Given the description of an element on the screen output the (x, y) to click on. 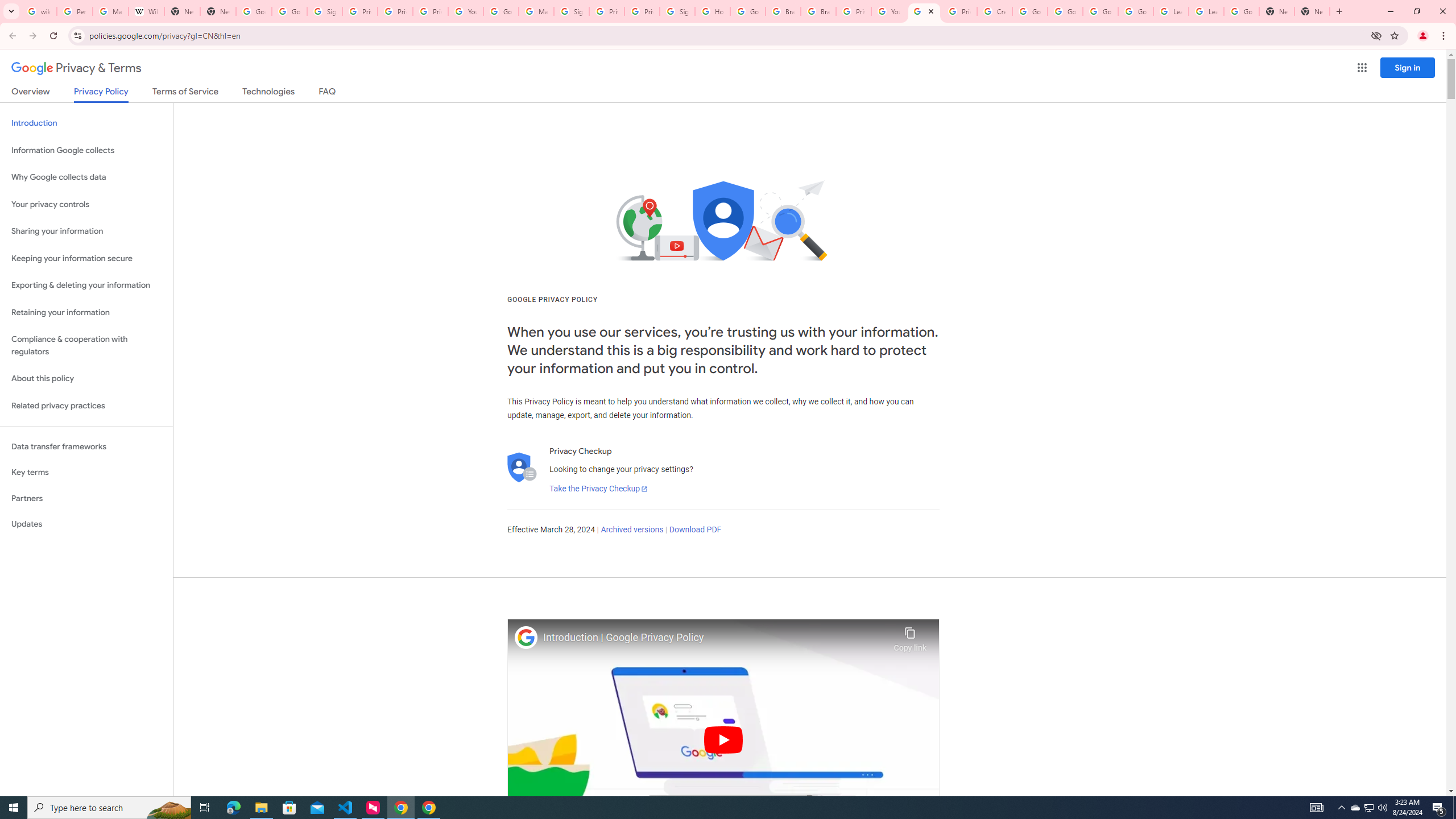
Manage your Location History - Google Search Help (110, 11)
Sign in - Google Accounts (324, 11)
Play (723, 739)
Google Account Help (1029, 11)
Exporting & deleting your information (86, 284)
Personalization & Google Search results - Google Search Help (74, 11)
Why Google collects data (86, 176)
